Given the description of an element on the screen output the (x, y) to click on. 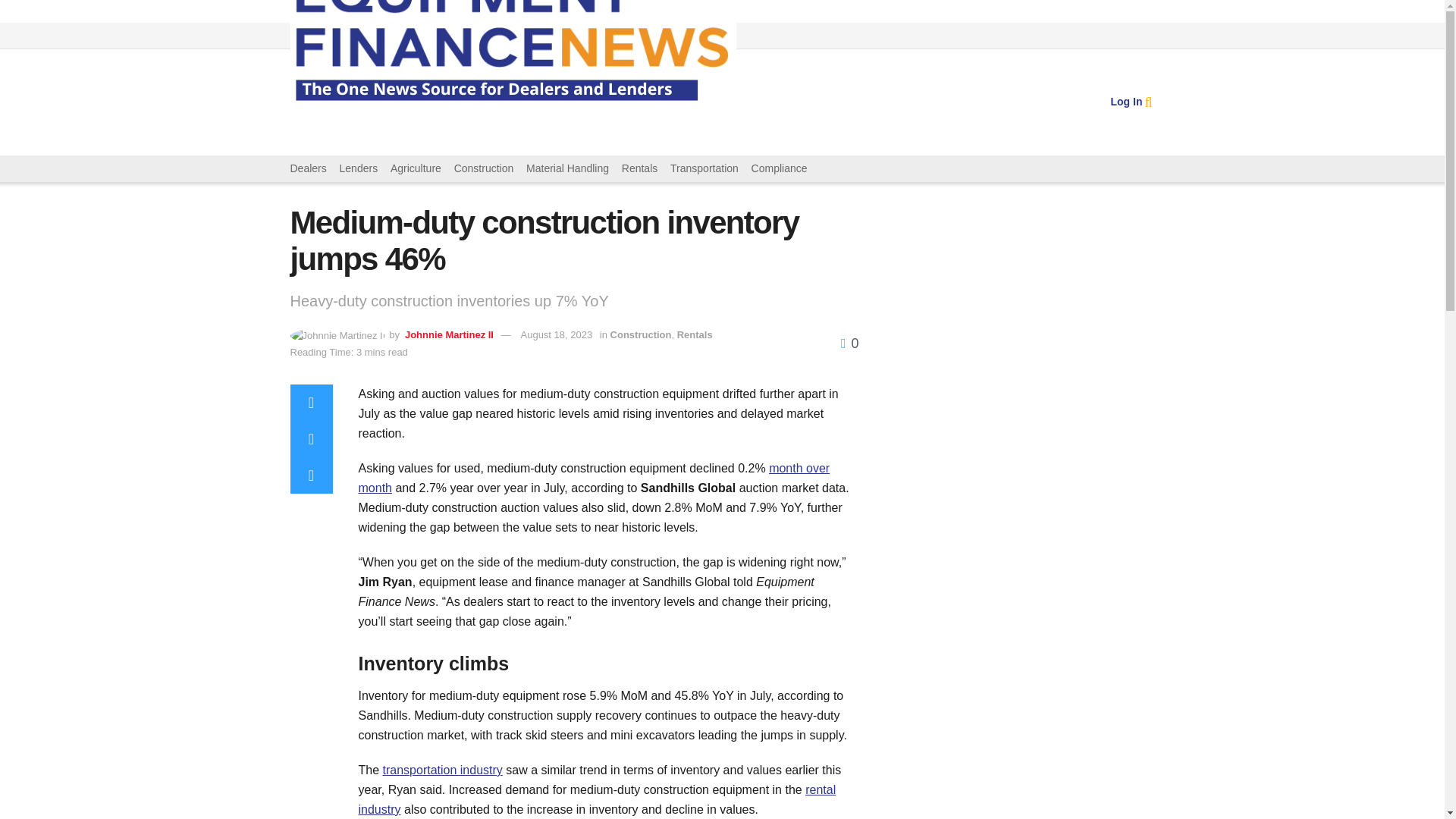
Lenders (358, 168)
EVENT (355, 102)
Johnnie Martinez II (659, 102)
Log In (448, 334)
LENDER DIRECTORY (1125, 102)
Log In (561, 102)
Rentals (1125, 102)
Dealers (695, 334)
August 18, 2023 (307, 168)
